Given the description of an element on the screen output the (x, y) to click on. 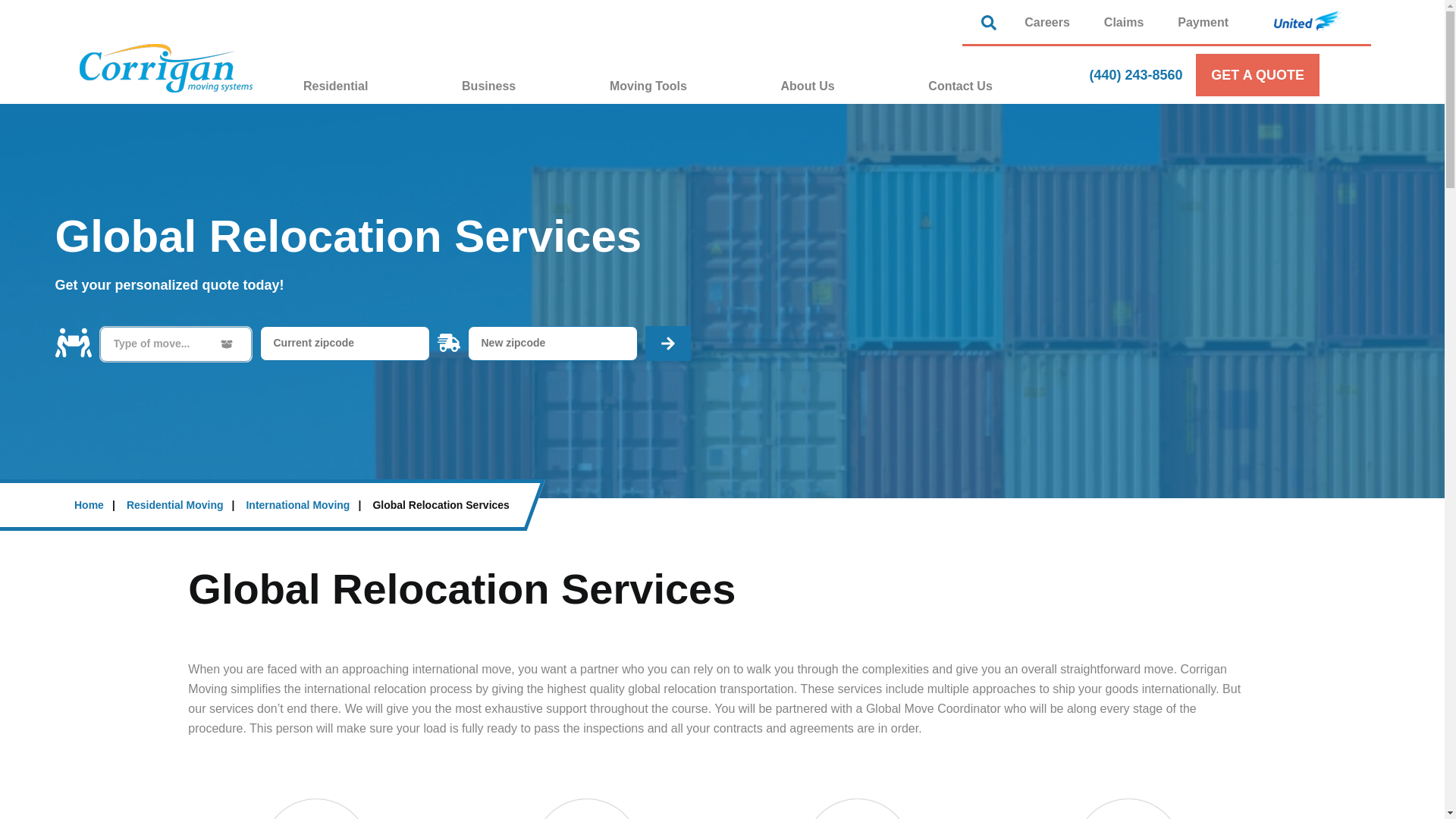
Corrigan Moving Payment Portal (1203, 21)
Payment (1203, 21)
Careers (1046, 21)
Corrigan Moving Home (165, 68)
Claims (1123, 21)
Open Search (992, 22)
Residential (372, 86)
